Given the description of an element on the screen output the (x, y) to click on. 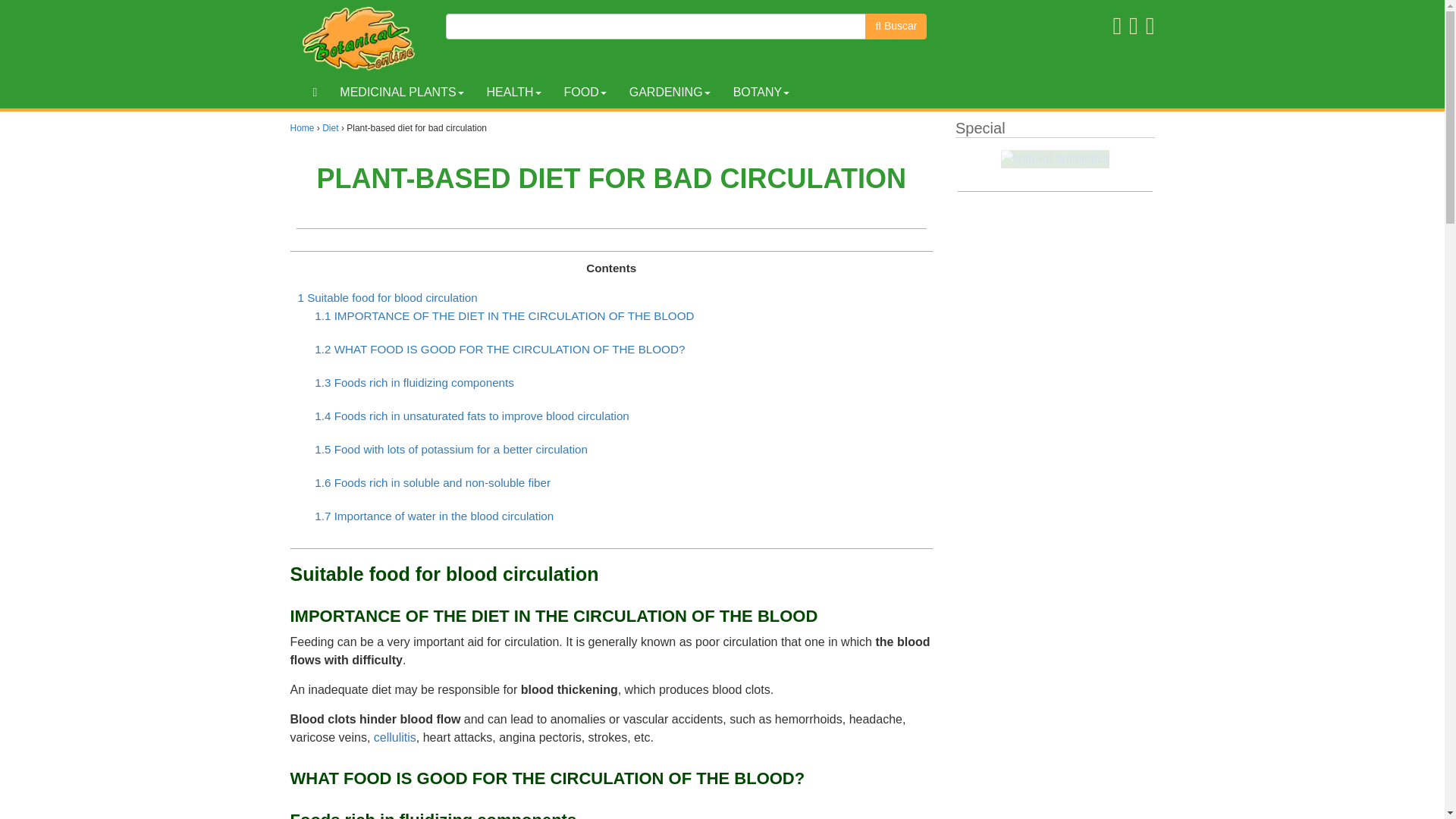
HEALTH (514, 92)
MEDICINAL PLANTS (401, 92)
FOOD (584, 92)
Buscar (895, 26)
Natural antibiotics (1055, 158)
GARDENING (669, 92)
Botanical-Online (362, 37)
